Given the description of an element on the screen output the (x, y) to click on. 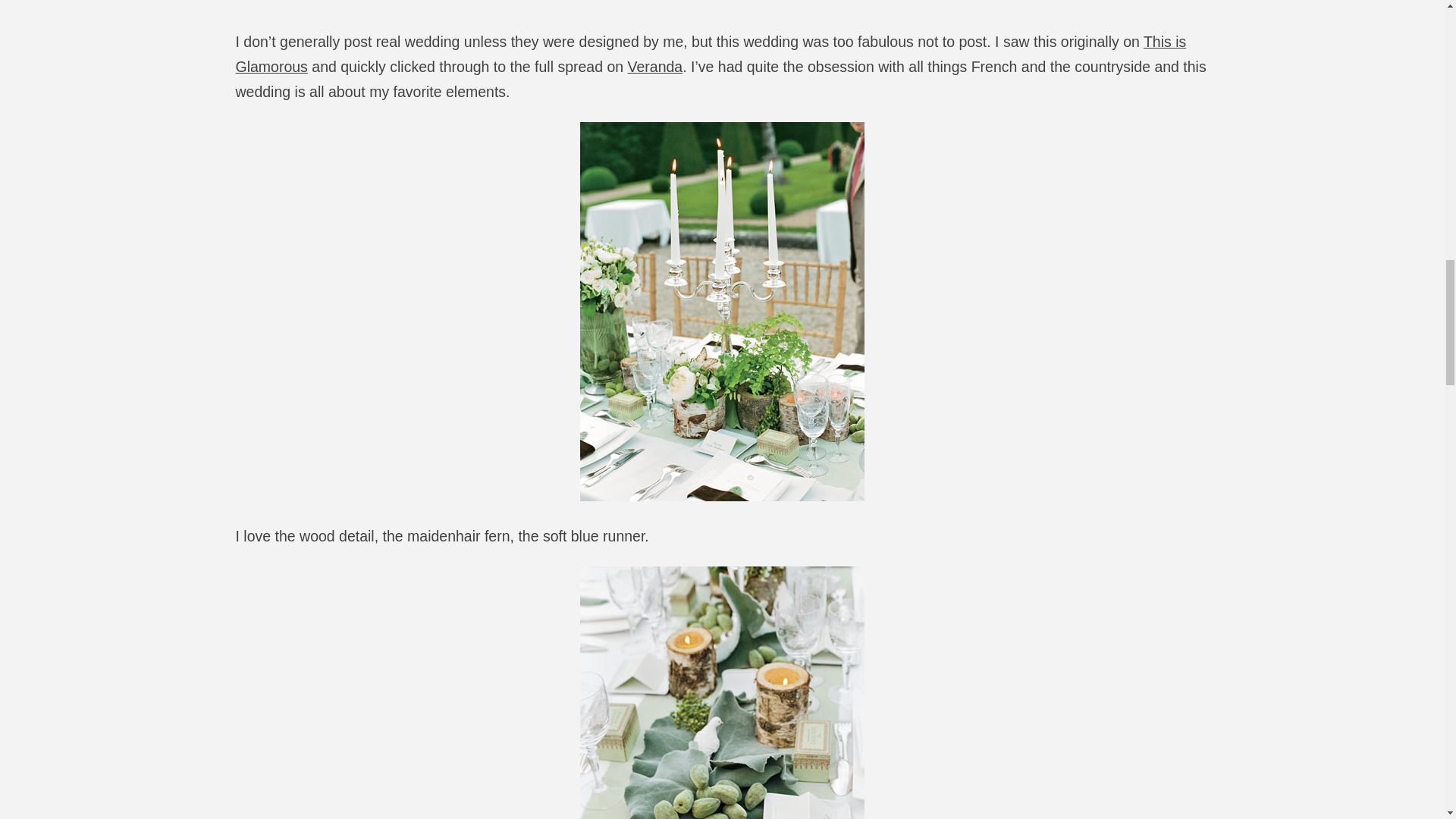
This is Glamorous (710, 54)
parisianwedding3 (721, 692)
Veranda (654, 66)
